Given the description of an element on the screen output the (x, y) to click on. 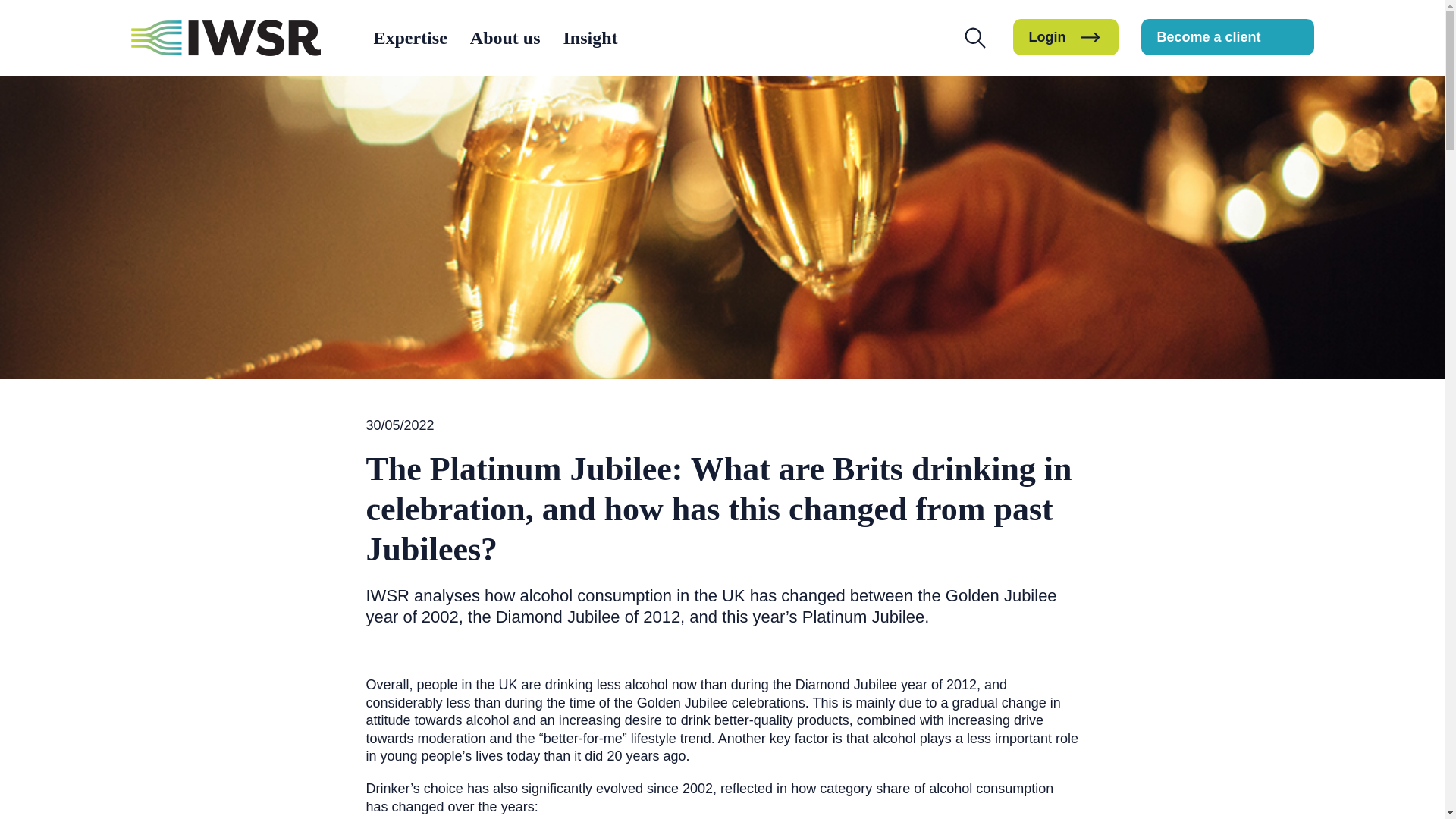
Login (1065, 36)
Insight (590, 38)
Search (867, 150)
Expertise (409, 38)
Become a client (1227, 36)
About us (505, 38)
